Given the description of an element on the screen output the (x, y) to click on. 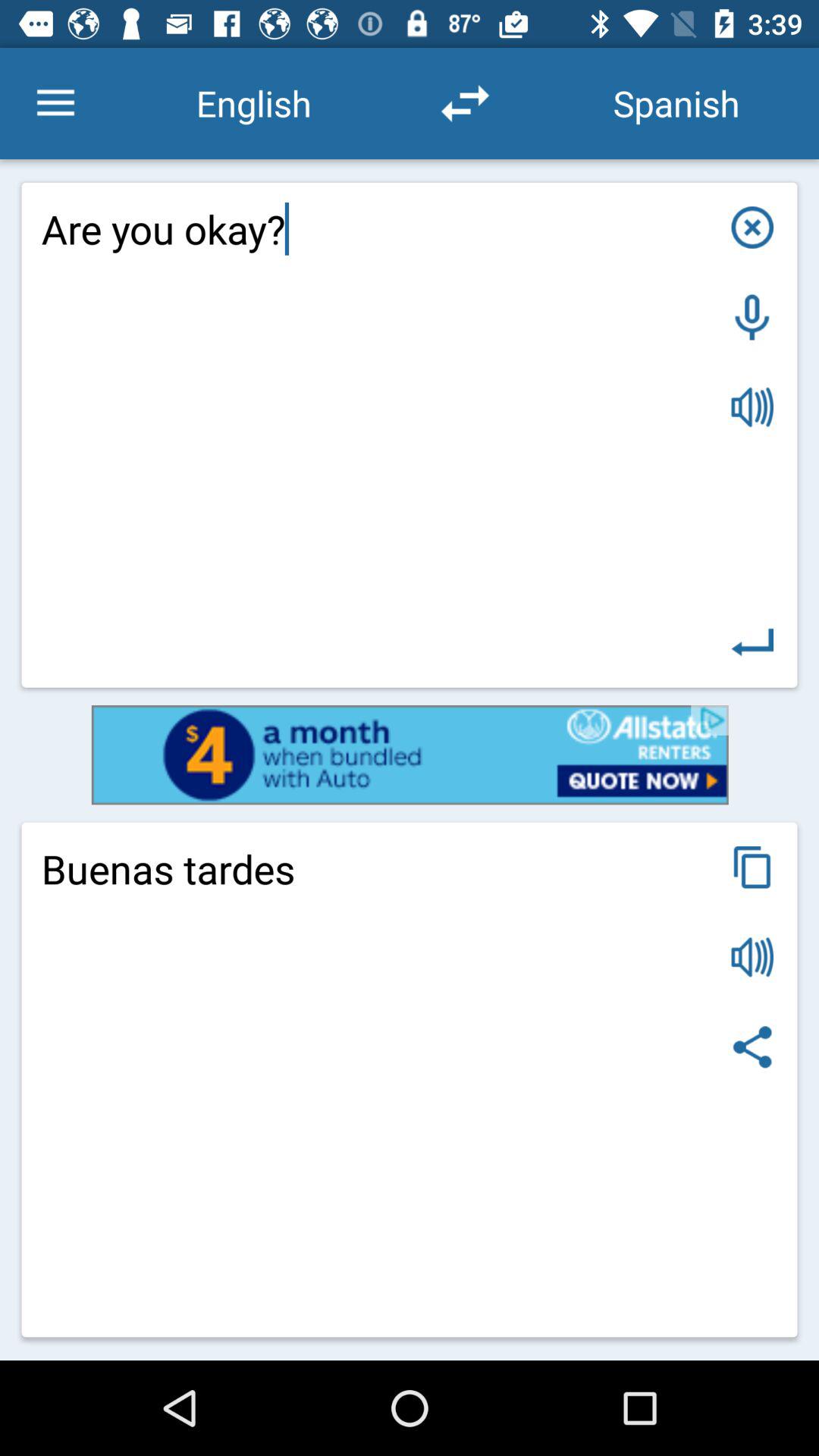
go to refresh (465, 103)
